Given the description of an element on the screen output the (x, y) to click on. 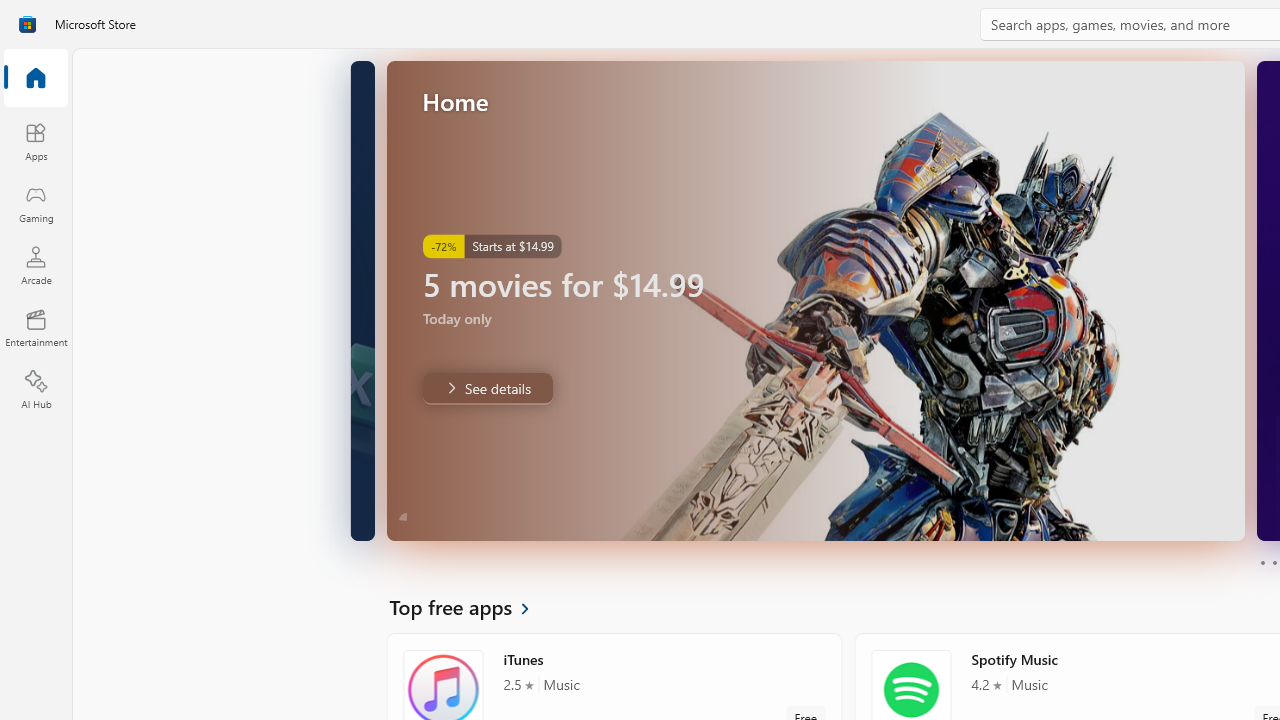
AI Hub (35, 390)
Page 1 (1261, 562)
Apps (35, 141)
Gaming (35, 203)
Entertainment (35, 327)
See all  Top free apps (471, 606)
Arcade (35, 265)
Page 2 (1274, 562)
AutomationID: Image (815, 300)
Home (35, 79)
Class: Image (27, 24)
